Given the description of an element on the screen output the (x, y) to click on. 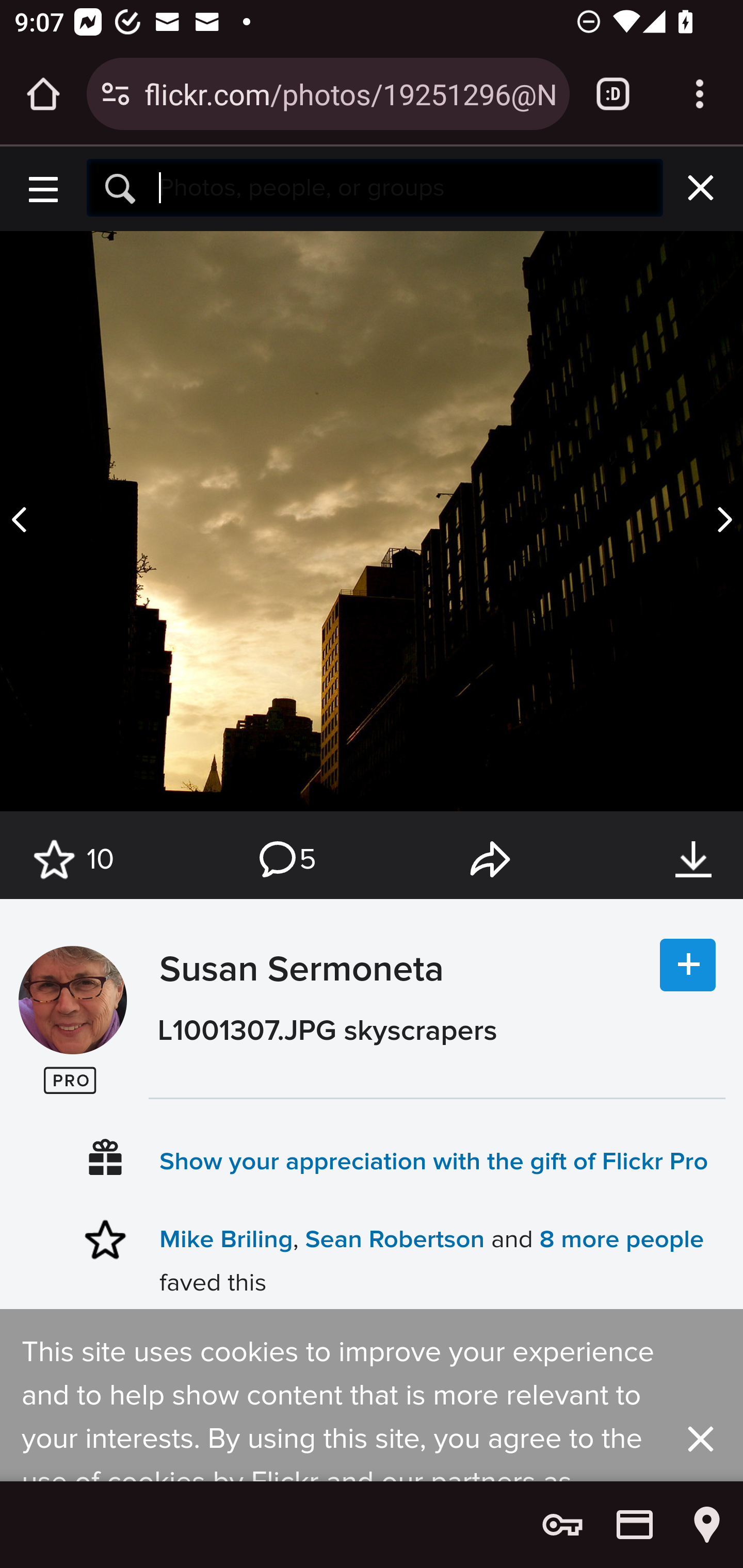
Open the home page (43, 93)
Connection is secure (115, 93)
Switch or close tabs (612, 93)
Customize and control Google Chrome (699, 93)
flickr.com/photos/19251296@N00/407746043 (349, 92)
Search (404, 187)
5 (286, 860)
Download this photo (693, 860)
Follow (687, 965)
en321 (72, 1000)
Show your appreciation with the gift of Flickr Pro (434, 1160)
Mike Briling (226, 1238)
Sean Robertson (394, 1238)
8 more people (621, 1238)
Show saved passwords and password options (562, 1524)
Show saved payment methods (634, 1524)
Show saved addresses (706, 1524)
